Given the description of an element on the screen output the (x, y) to click on. 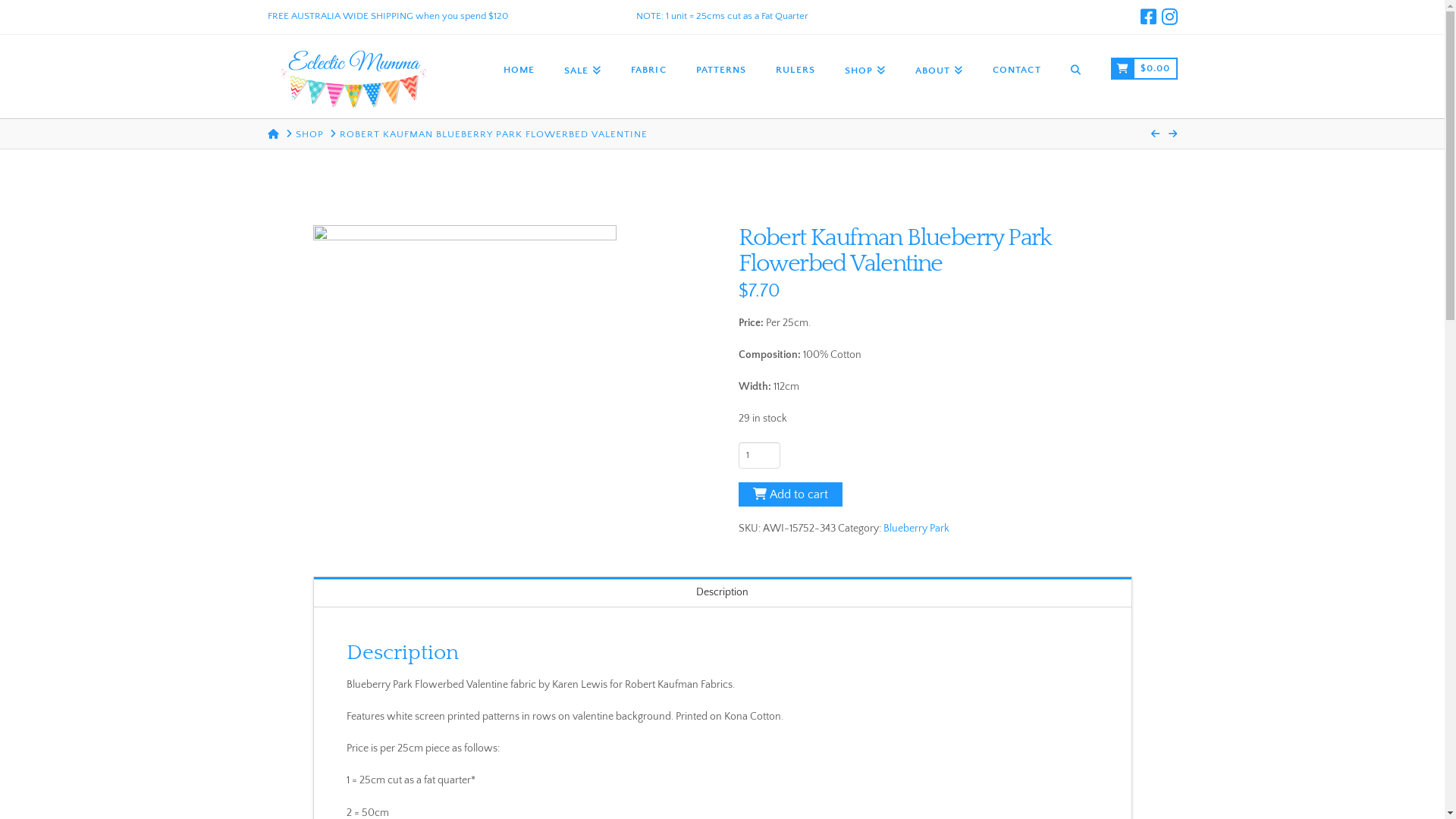
$0.00 Element type: text (1143, 68)
SALE Element type: text (582, 68)
Facebook Element type: hover (1148, 16)
HOME Element type: text (272, 134)
Add to cart Element type: text (790, 494)
AWI-15752-343 Element type: hover (463, 376)
Qty Element type: hover (759, 454)
ABOUT Element type: text (938, 68)
FABRIC Element type: text (647, 68)
CONTACT Element type: text (1016, 68)
Description Element type: text (722, 591)
SHOP Element type: text (864, 68)
Instagram Element type: hover (1169, 16)
PATTERNS Element type: text (720, 68)
RULERS Element type: text (794, 68)
Blueberry Park Element type: text (916, 528)
HOME Element type: text (518, 68)
SHOP Element type: text (309, 134)
ROBERT KAUFMAN BLUEBERRY PARK FLOWERBED VALENTINE Element type: text (493, 134)
